Given the description of an element on the screen output the (x, y) to click on. 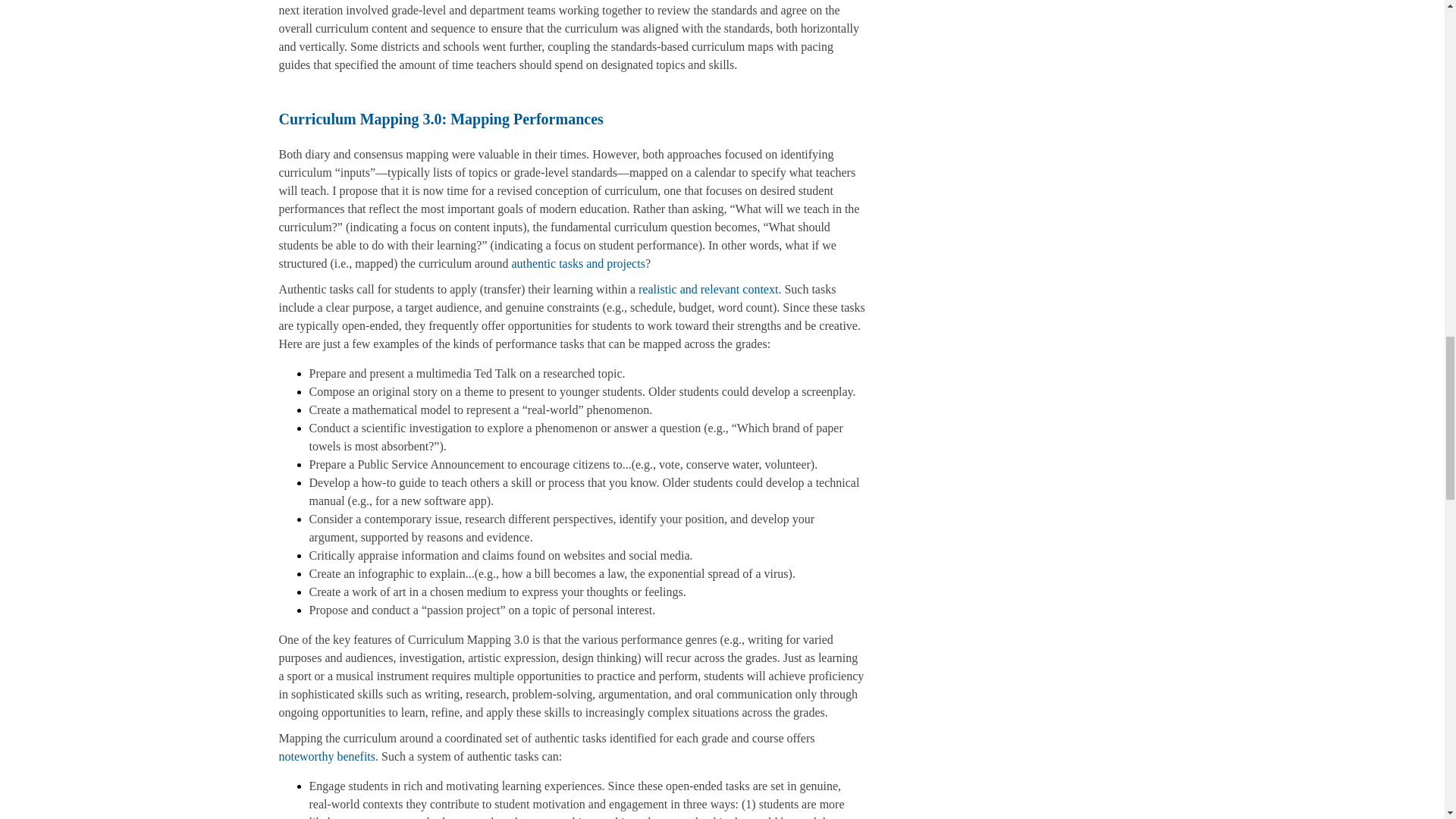
noteworthy benefits (327, 756)
realistic and relevant context (708, 288)
authentic tasks and projects (578, 263)
